Given the description of an element on the screen output the (x, y) to click on. 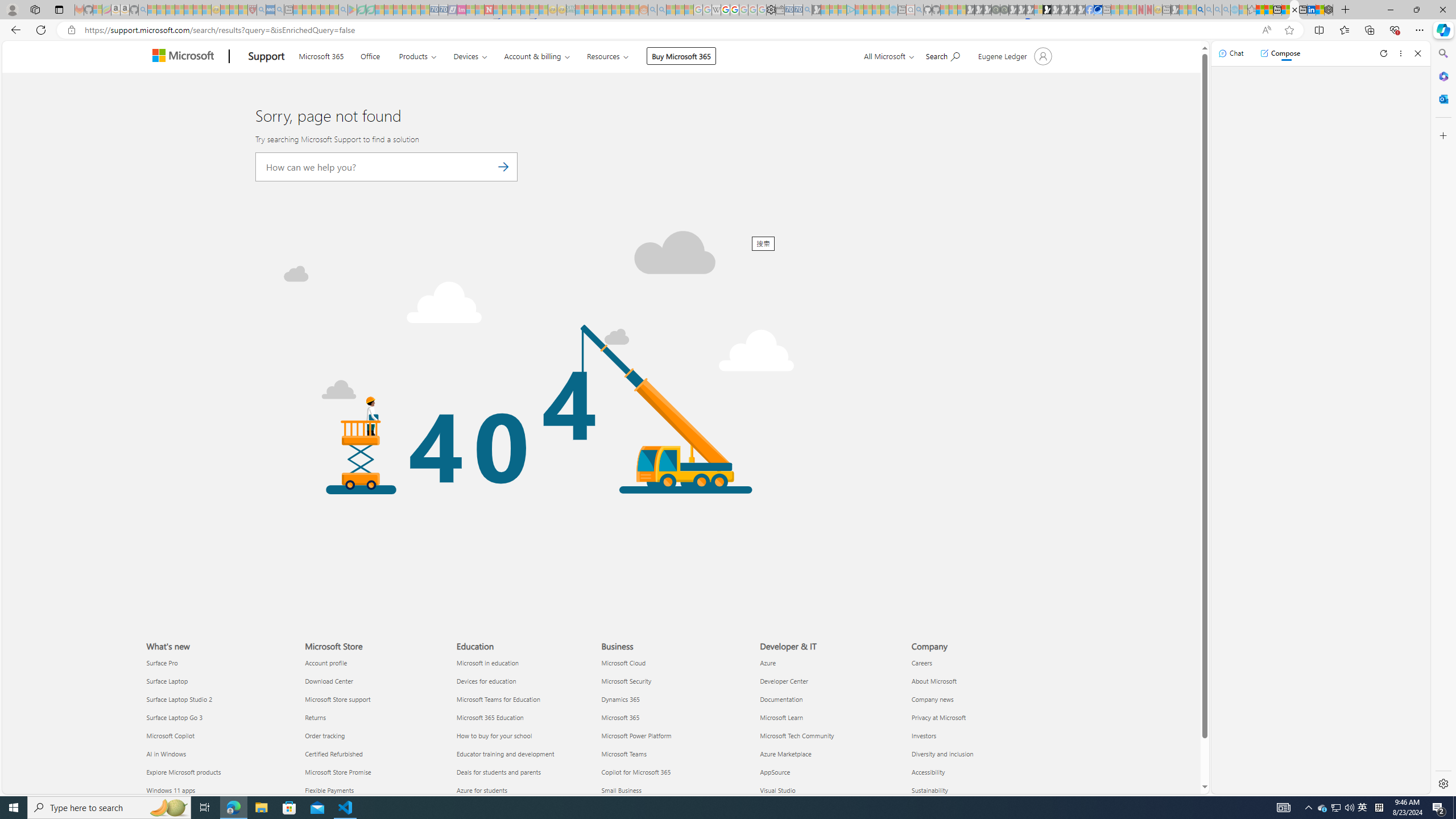
google - Search - Sleeping (342, 9)
Chat (1230, 52)
Order tracking (373, 735)
About Microsoft Company (933, 680)
Account manager for Eugene Ledger (1014, 55)
Microsoft Cloud Business (623, 662)
Microsoft Power Platform Business (636, 734)
